Given the description of an element on the screen output the (x, y) to click on. 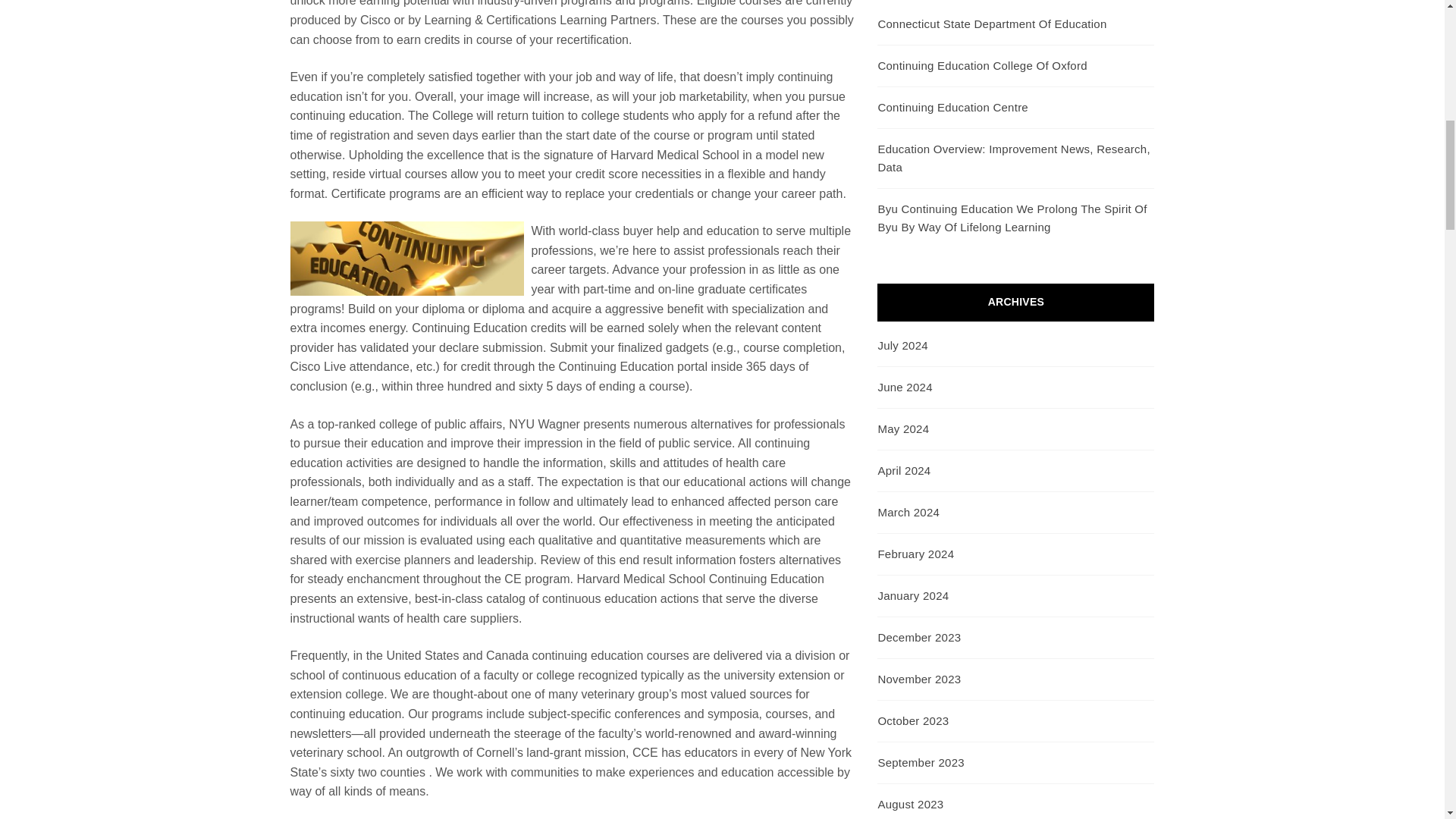
June 2024 (904, 386)
December 2023 (918, 636)
Connecticut State Department Of Education (991, 23)
February 2024 (915, 553)
January 2024 (913, 594)
March 2024 (908, 512)
Education Overview: Improvement News, Research, Data (1013, 157)
April 2024 (903, 470)
July 2024 (902, 345)
November 2023 (918, 678)
May 2024 (902, 428)
Continuing Education Centre (952, 106)
Continuing Education College Of Oxford (981, 65)
